Given the description of an element on the screen output the (x, y) to click on. 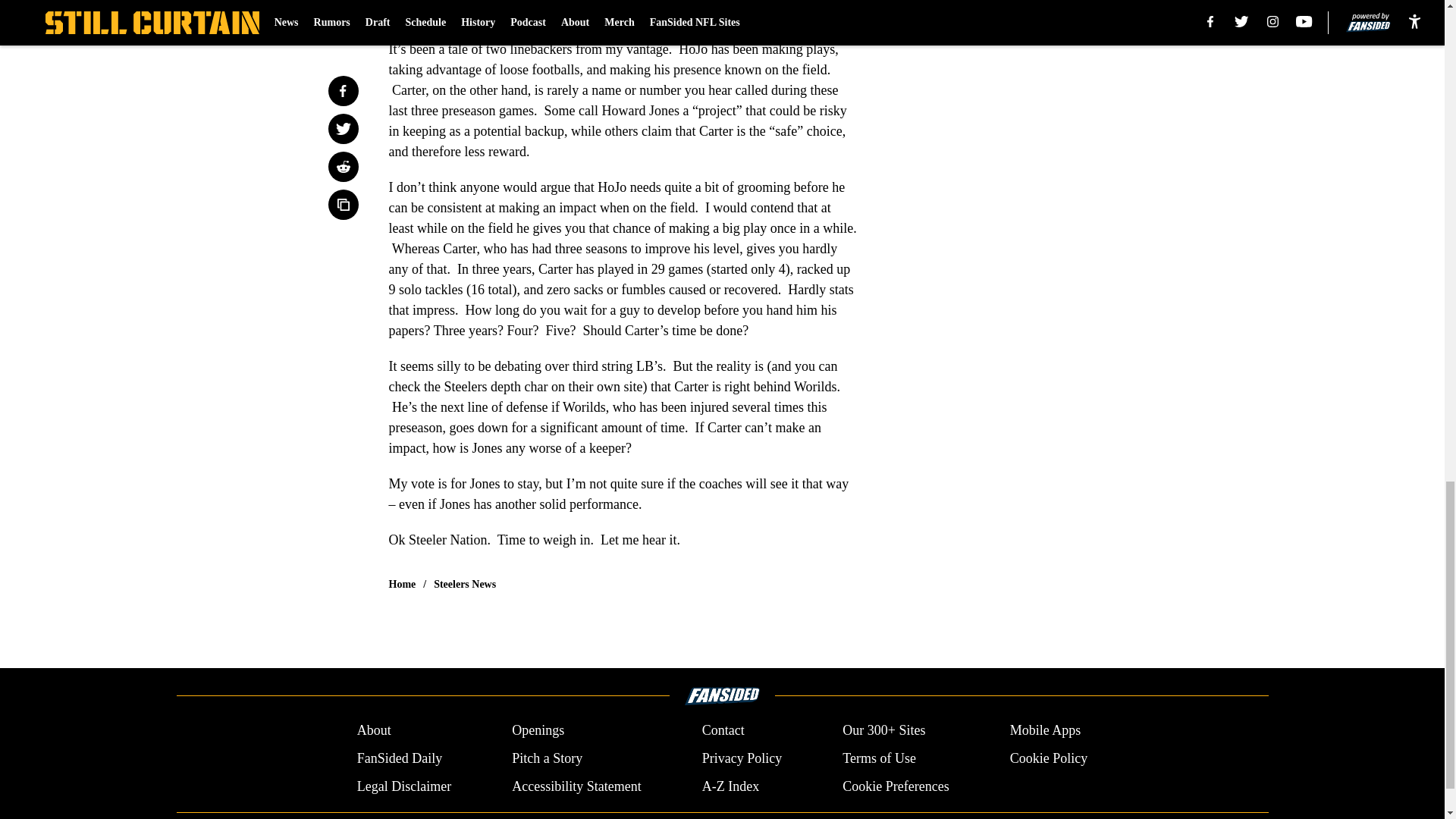
Terms of Use (879, 758)
Legal Disclaimer (403, 786)
Steelers News (464, 584)
Accessibility Statement (576, 786)
Cookie Preferences (896, 786)
Contact (722, 730)
Pitch a Story (547, 758)
Openings (538, 730)
FanSided Daily (399, 758)
Mobile Apps (1045, 730)
